Given the description of an element on the screen output the (x, y) to click on. 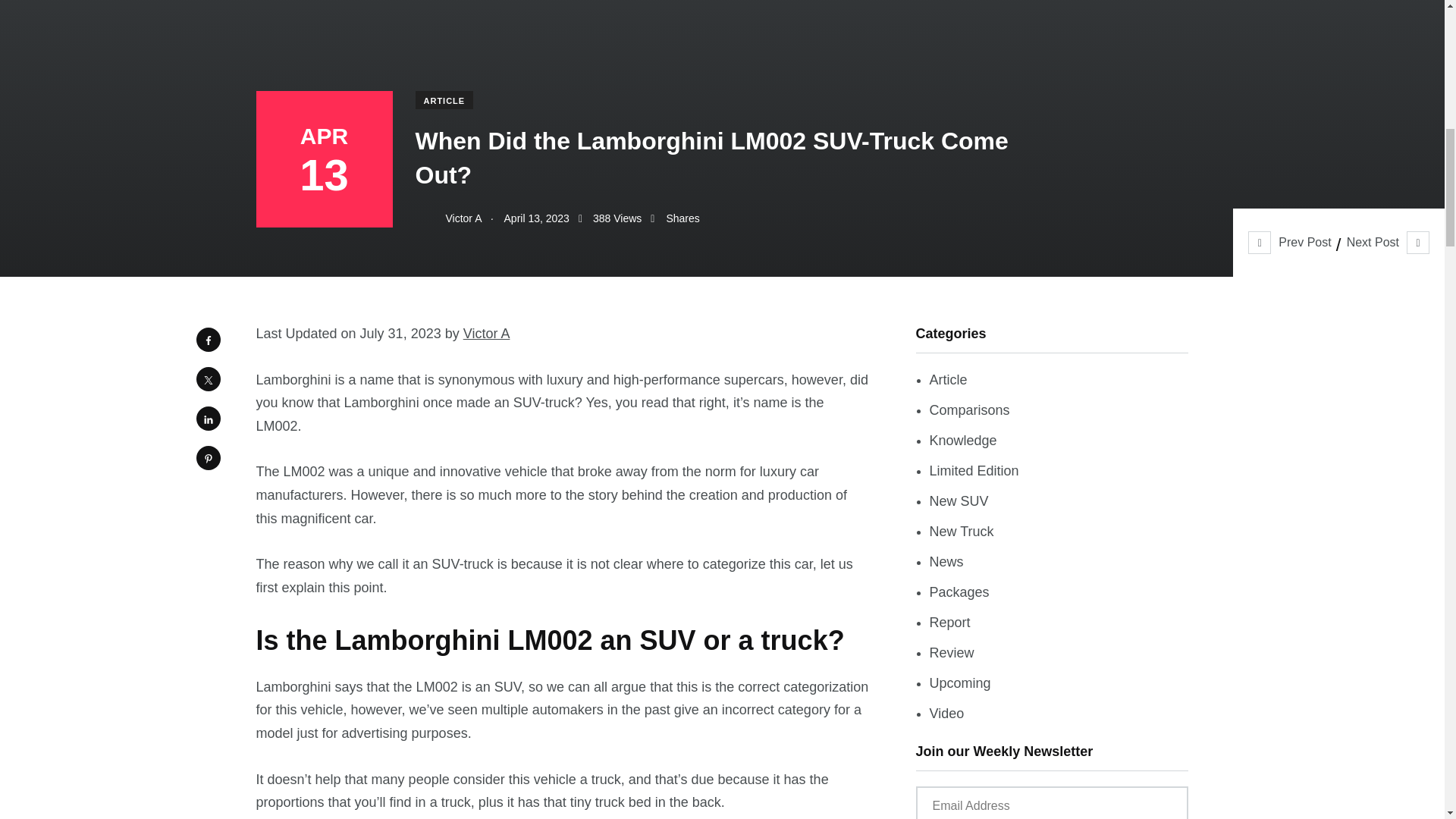
Share on LinkedIn (207, 418)
Share on Pinterest (207, 457)
Prev Post (1288, 241)
Victor A (447, 219)
ARTICLE (444, 99)
Share on Twitter (207, 378)
Next Post (1387, 241)
Share on Facebook (207, 339)
Victor A (487, 333)
